Given the description of an element on the screen output the (x, y) to click on. 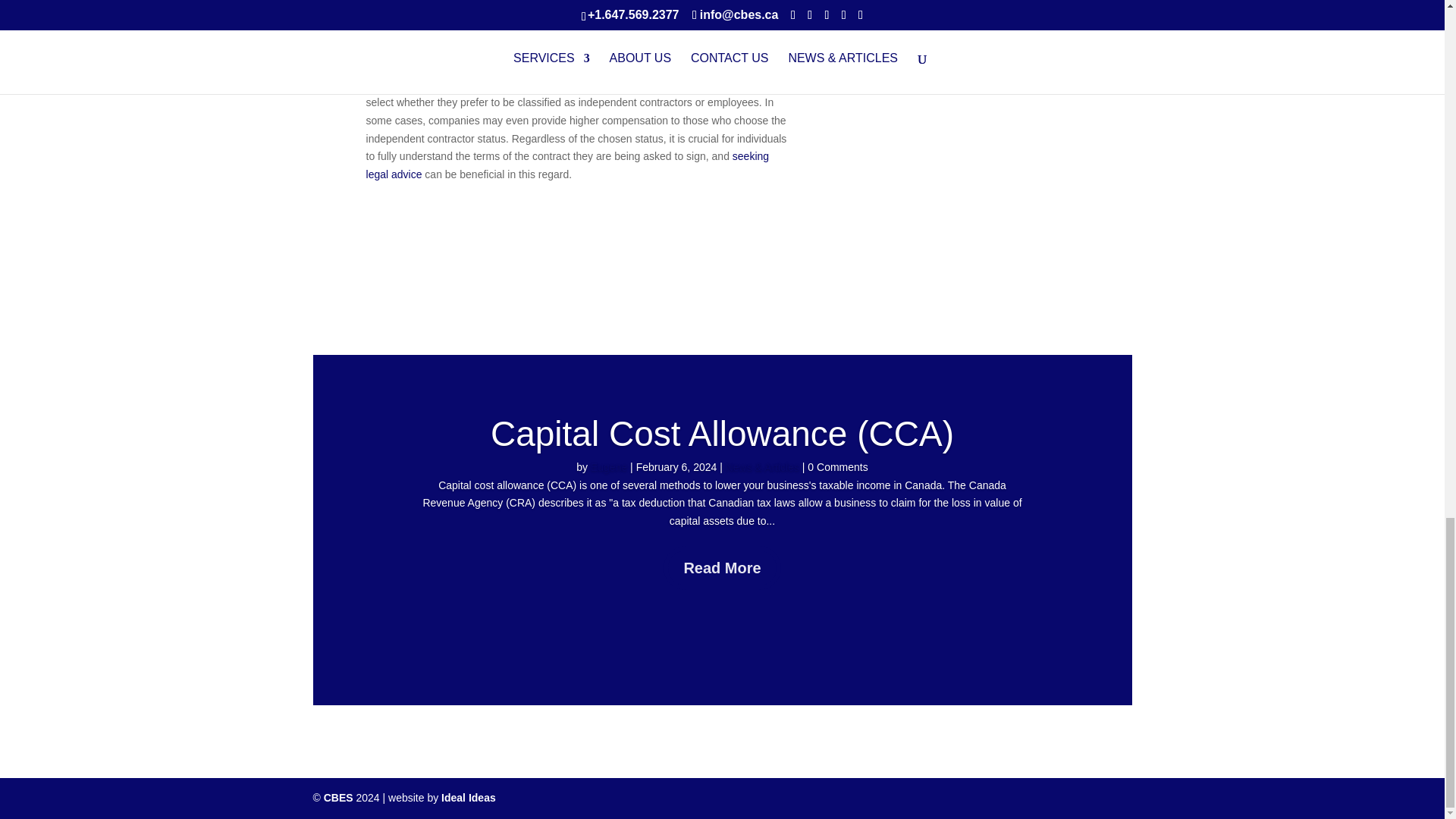
Ideal Ideas (468, 797)
Posts by Eugene (609, 467)
Eugene (609, 467)
Read More (721, 567)
seeking legal advice (568, 164)
